Given the description of an element on the screen output the (x, y) to click on. 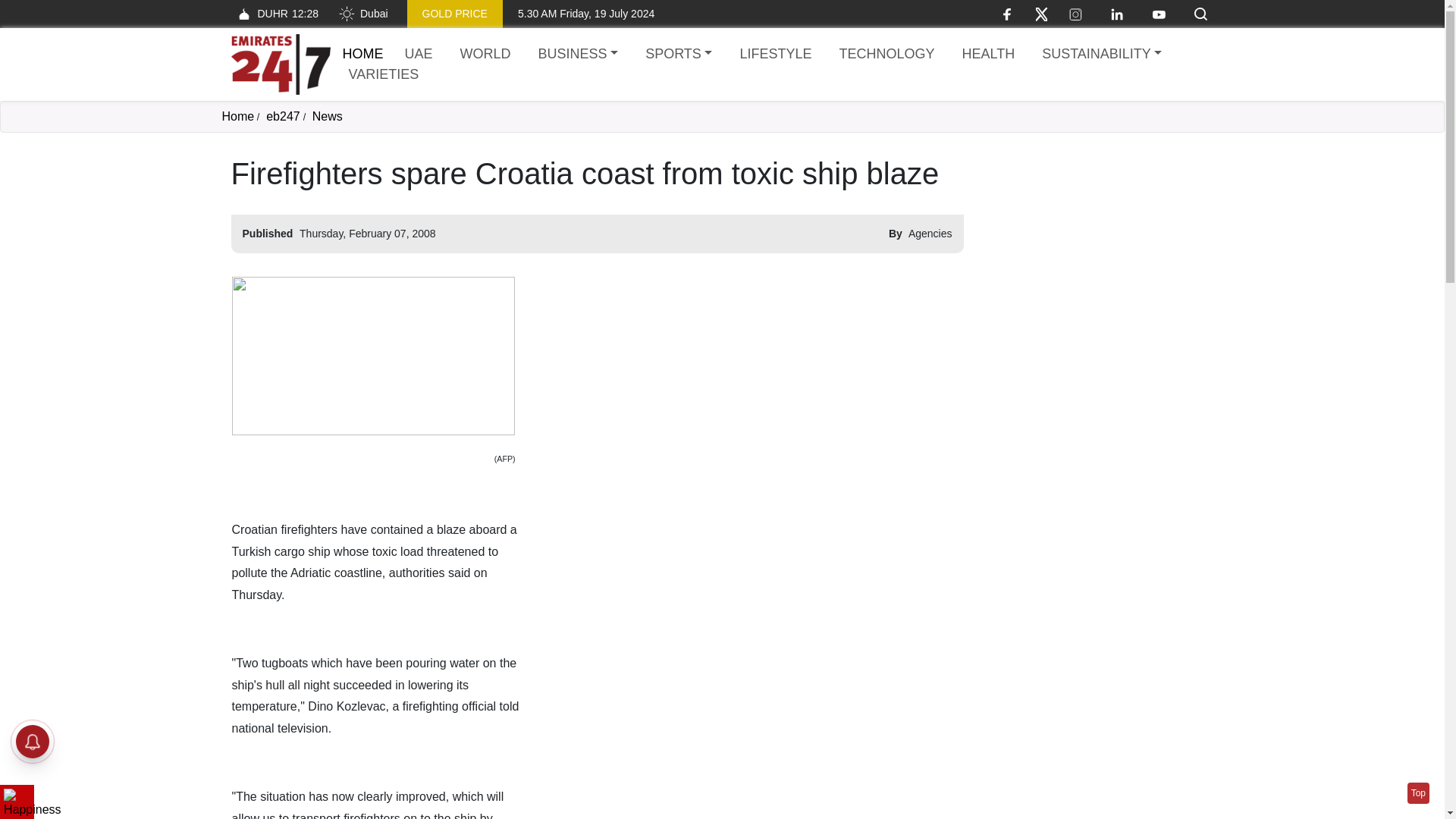
News (327, 115)
HOME (363, 53)
TECHNOLOGY (886, 54)
SUSTAINABILITY (1101, 54)
Go to top (274, 13)
SPORTS (1418, 792)
GOLD PRICE (678, 54)
Home (454, 13)
BUSINESS (237, 115)
LIFESTYLE (578, 54)
VARIETIES (774, 54)
WORLD (383, 74)
3rd party ad content (485, 54)
UAE (1097, 249)
